Given the description of an element on the screen output the (x, y) to click on. 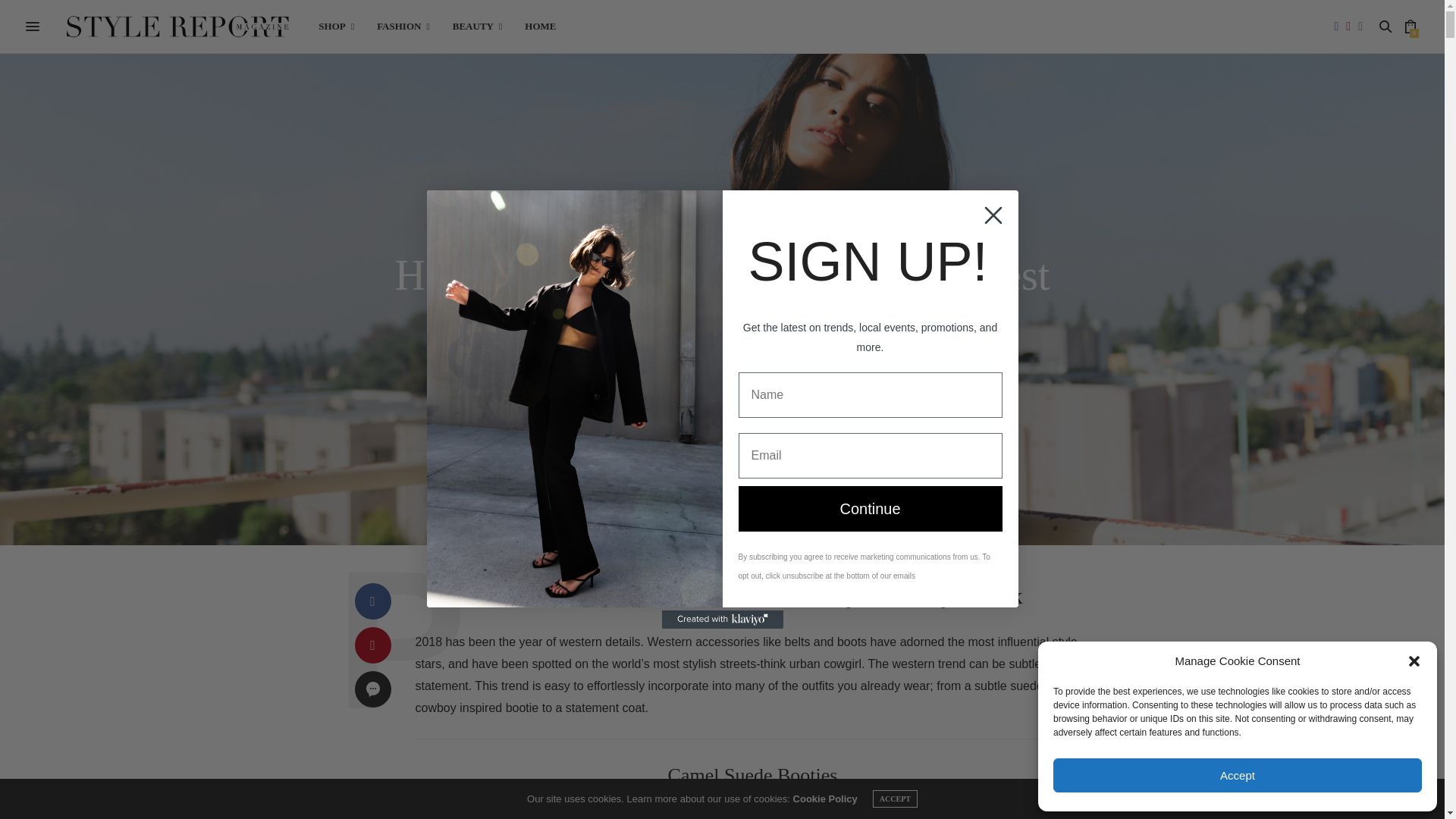
Accept (1237, 775)
